Given the description of an element on the screen output the (x, y) to click on. 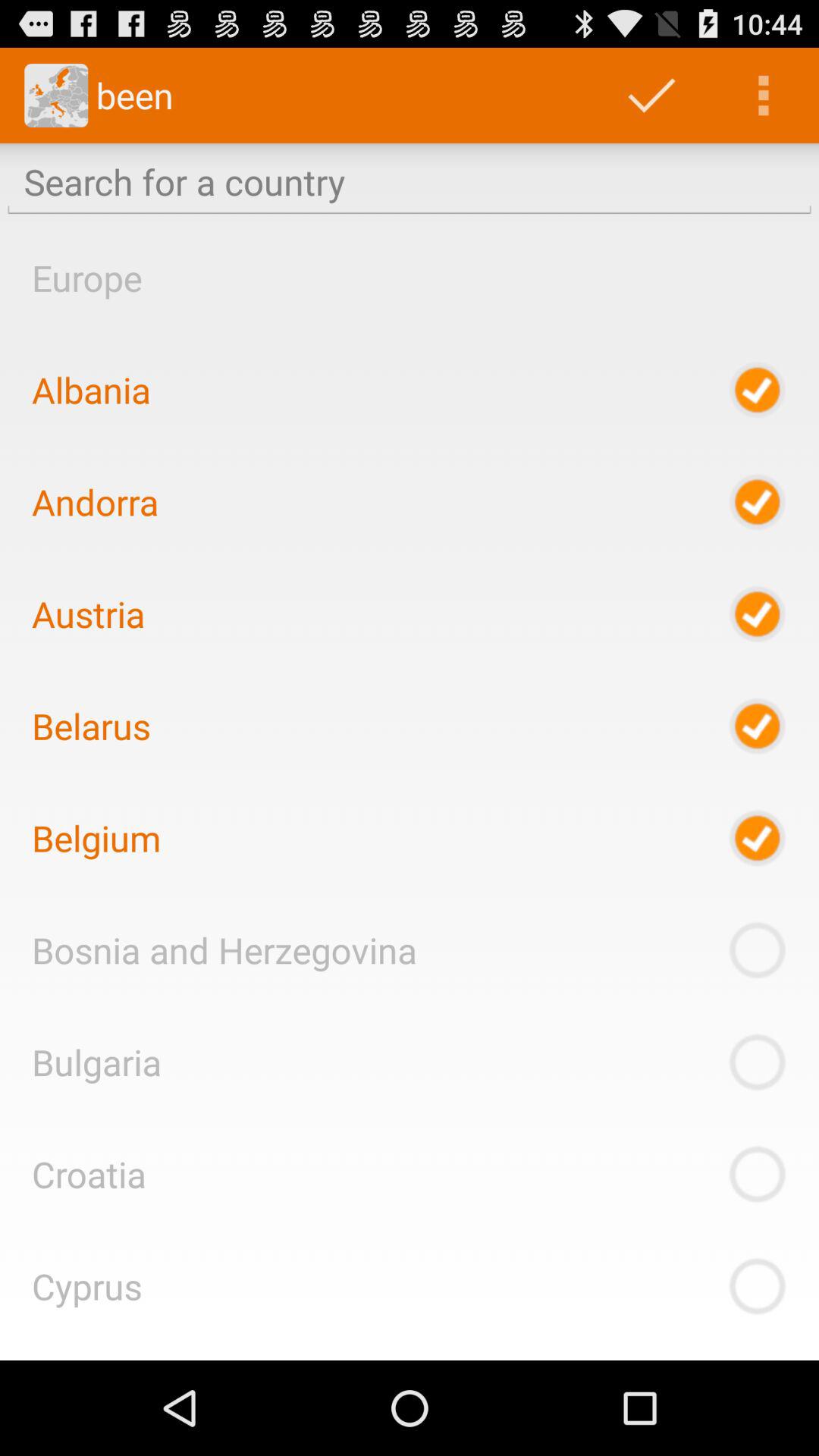
turn off the belgium item (95, 837)
